Given the description of an element on the screen output the (x, y) to click on. 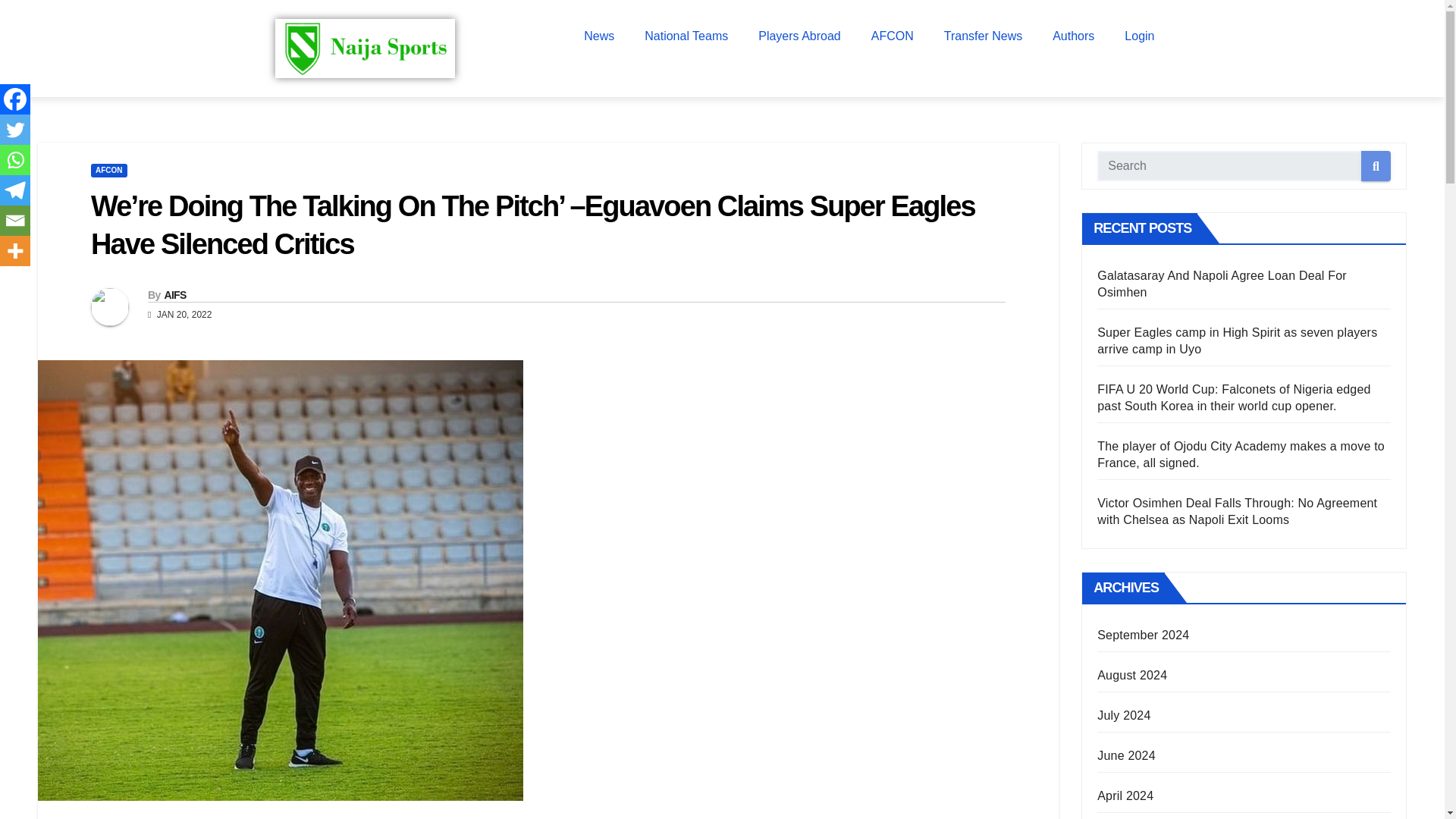
AFCON (892, 36)
Facebook (15, 99)
More (15, 250)
News (598, 36)
AFCON (109, 170)
Transfer News (982, 36)
National Teams (685, 36)
Twitter (15, 129)
Telegram (15, 190)
Authors (1072, 36)
